Given the description of an element on the screen output the (x, y) to click on. 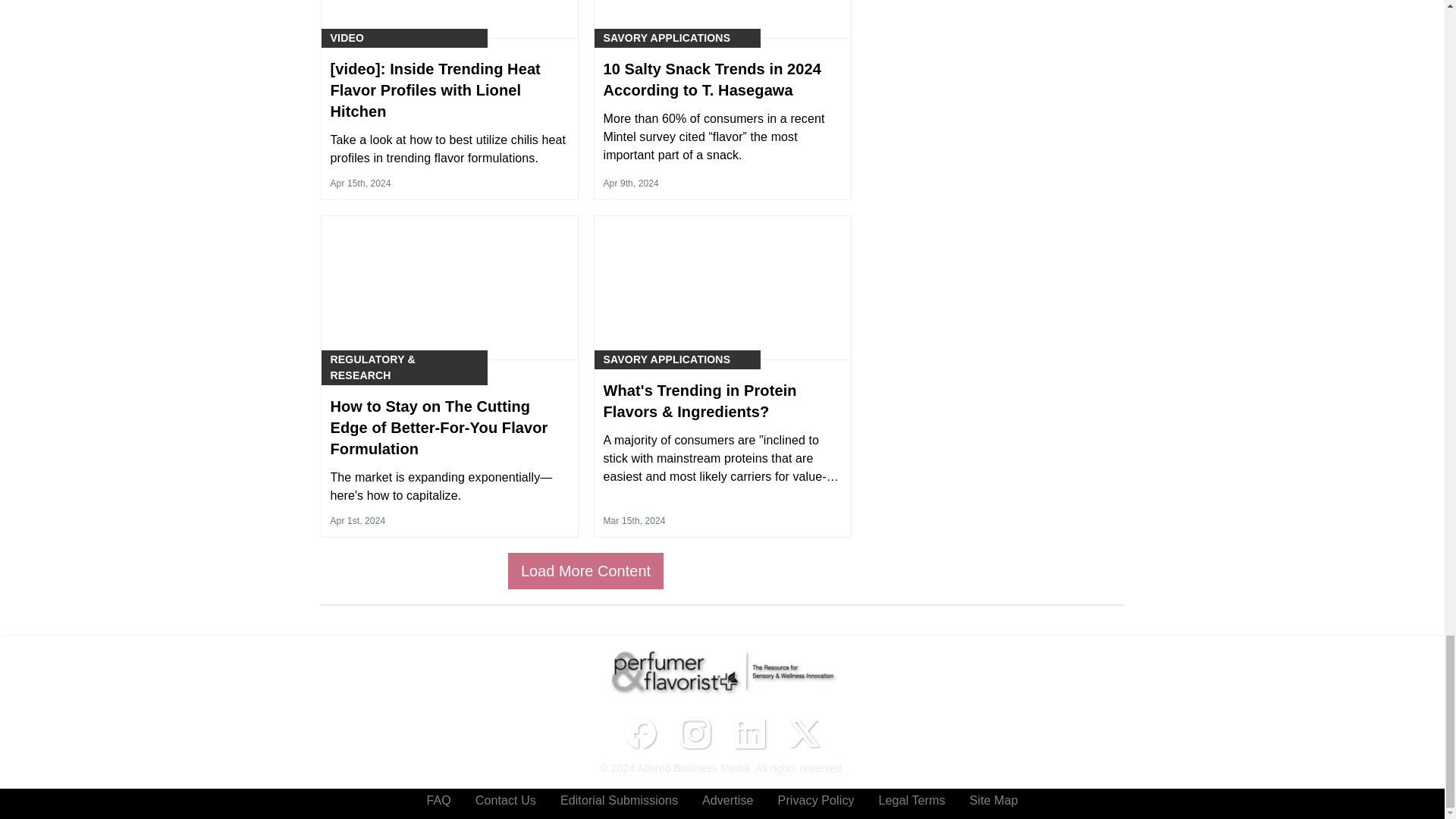
Instagram icon (694, 733)
LinkedIn icon (748, 733)
Facebook icon (639, 733)
